Given the description of an element on the screen output the (x, y) to click on. 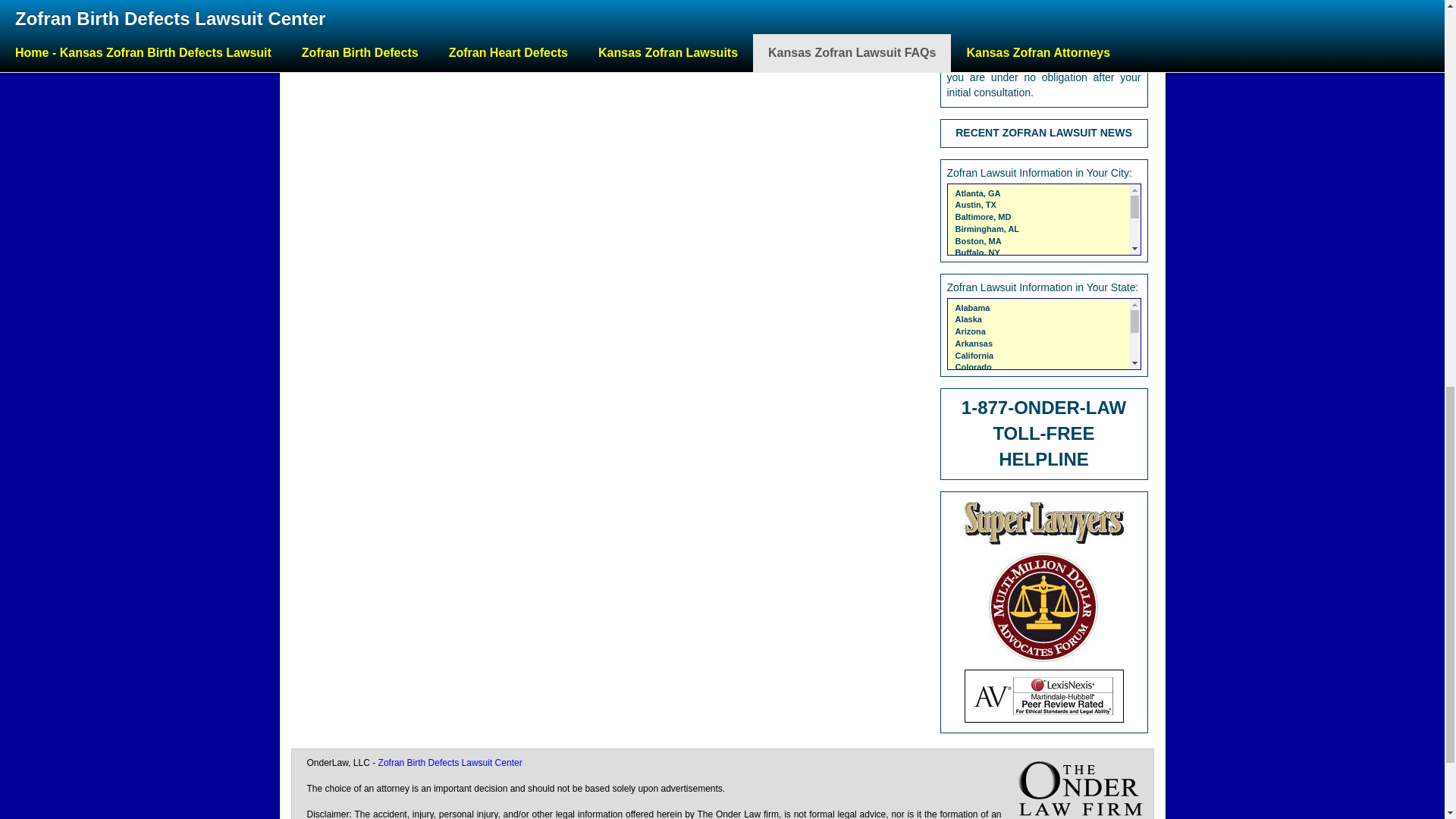
Cincinnati, OH (984, 276)
Birmingham (987, 228)
Dallas (975, 311)
Louisville, KY (982, 454)
Memphis, TN (981, 466)
Birmingham, AL (987, 228)
Detroit, MI (975, 335)
Boston, MA (978, 240)
Minneapolis, MN (988, 501)
Columbus, OH (984, 299)
